Given the description of an element on the screen output the (x, y) to click on. 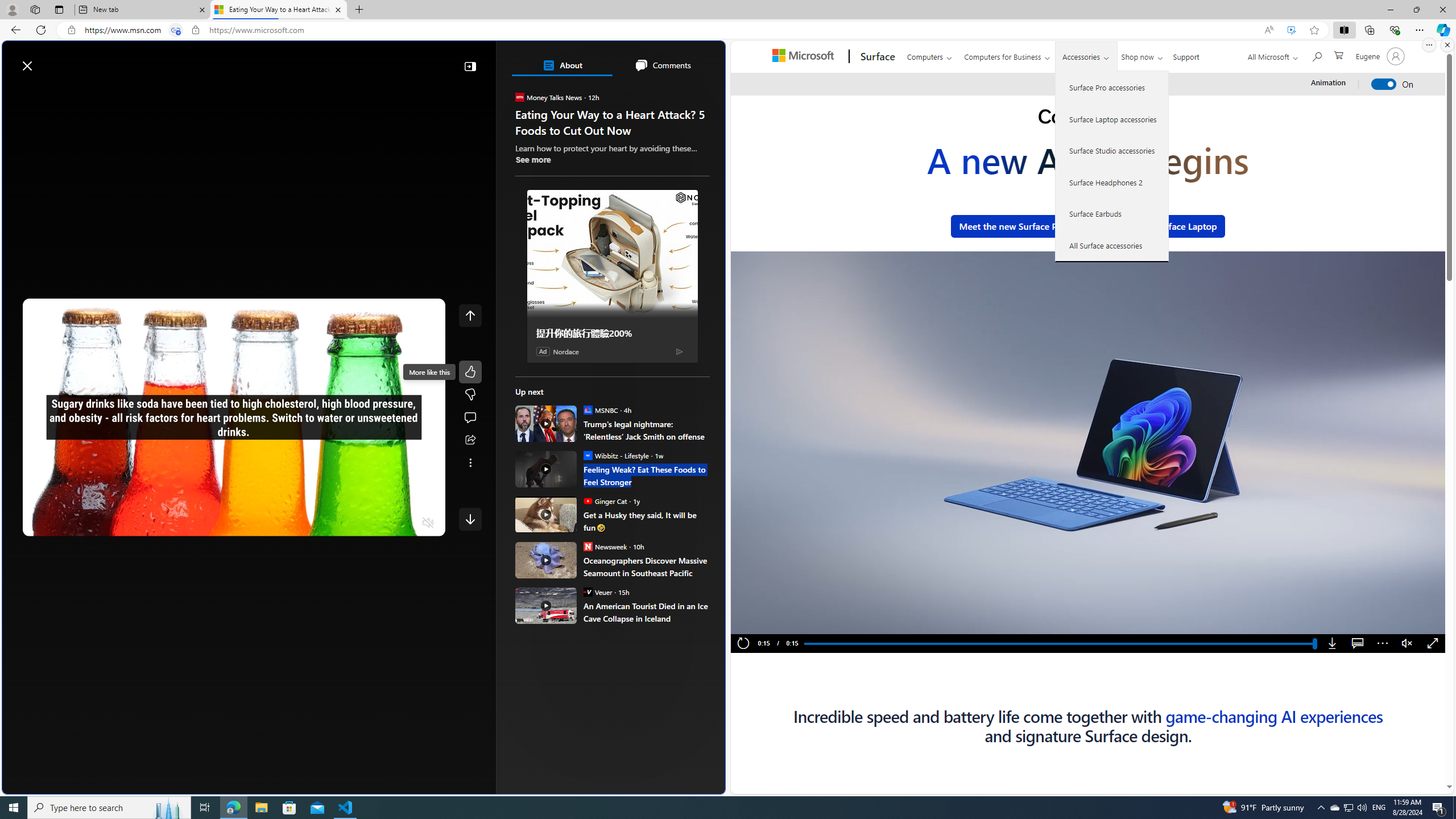
Share this story (469, 440)
Tabs in split screen (175, 29)
Wibbitz - Lifestyle Wibbitz - Lifestyle (615, 455)
Fullscreen (1432, 643)
Meet the new Surface Laptop (1155, 225)
Surface Headphones 2 (1112, 182)
MSNBC (587, 409)
